Given the description of an element on the screen output the (x, y) to click on. 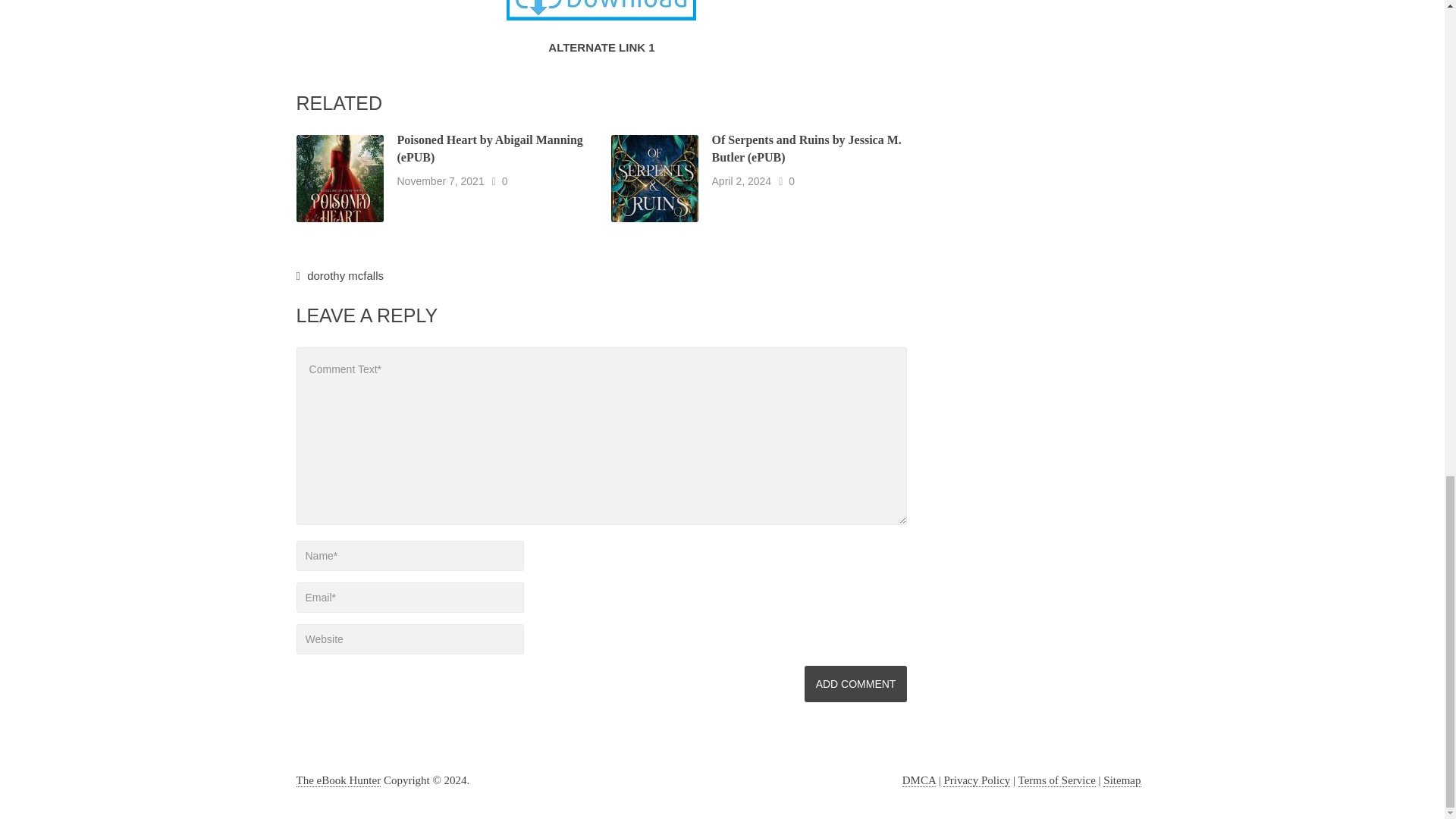
Add Comment (856, 683)
dorothy mcfalls (345, 275)
ALTERNATE LINK 1 (600, 46)
0 (791, 181)
Add Comment (856, 683)
